Given the description of an element on the screen output the (x, y) to click on. 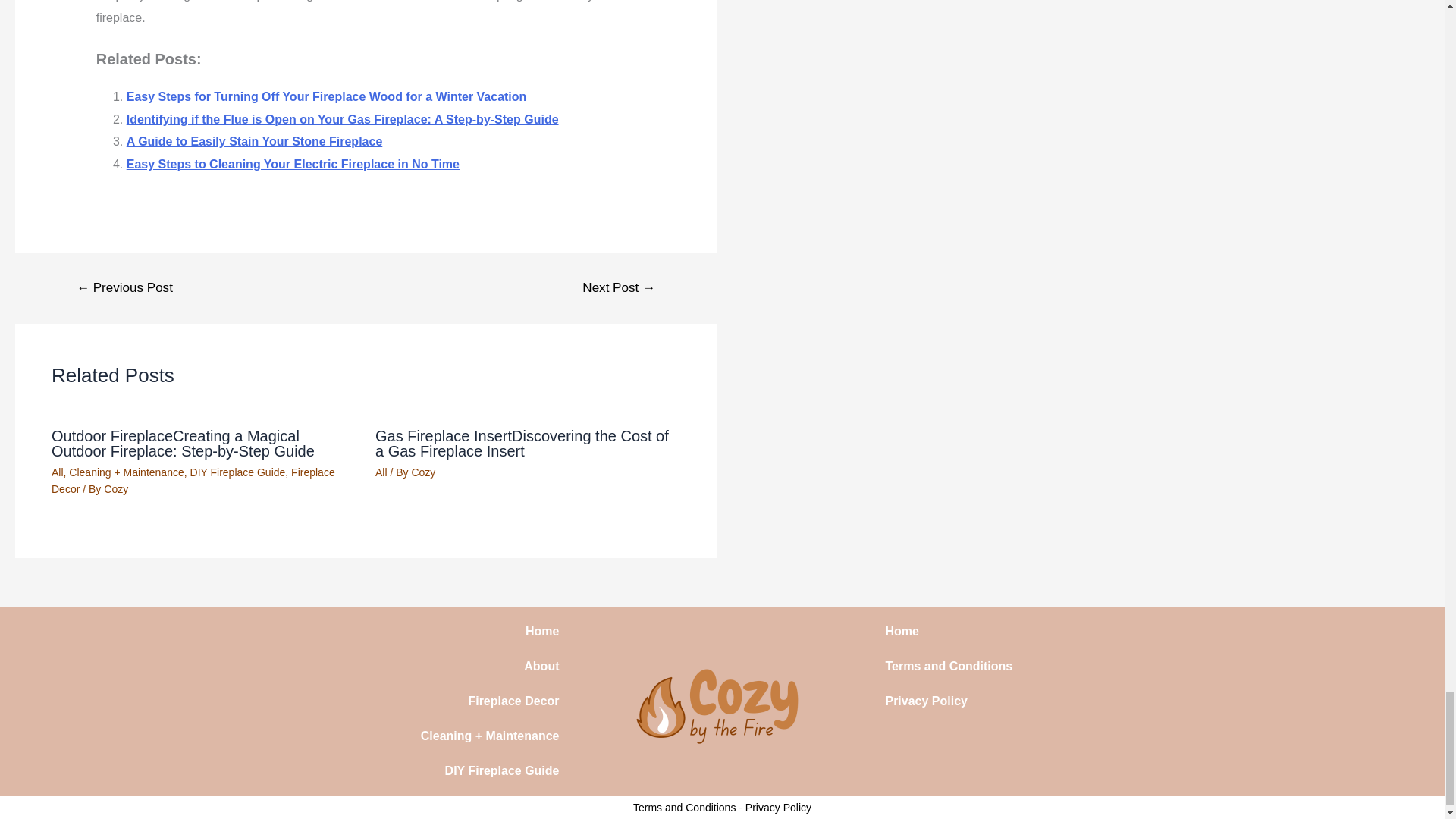
All (381, 472)
Cozy (115, 489)
Cozy (422, 472)
Fireplace Decor (192, 480)
Easy Steps to Cleaning Your Electric Fireplace in No Time (293, 164)
A Guide to Easily Stain Your Stone Fireplace (254, 141)
